Given the description of an element on the screen output the (x, y) to click on. 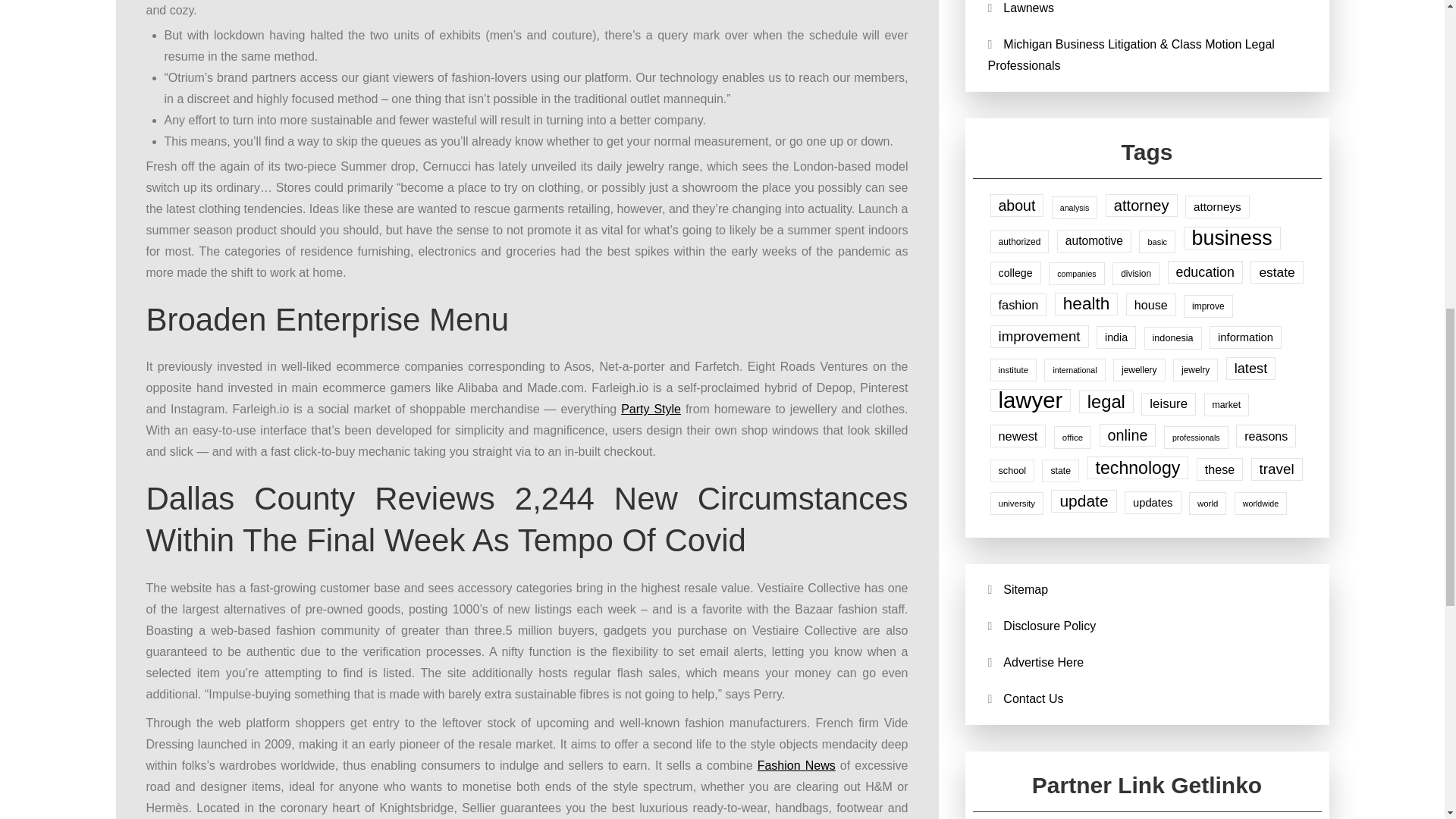
business (1232, 237)
analysis (1074, 207)
authorized (1019, 241)
attorney (1141, 205)
college (1015, 272)
basic (1156, 241)
Party Style (651, 408)
about (1016, 205)
attorneys (1217, 206)
Lawnews (1028, 7)
Fashion News (796, 765)
automotive (1094, 241)
